Given the description of an element on the screen output the (x, y) to click on. 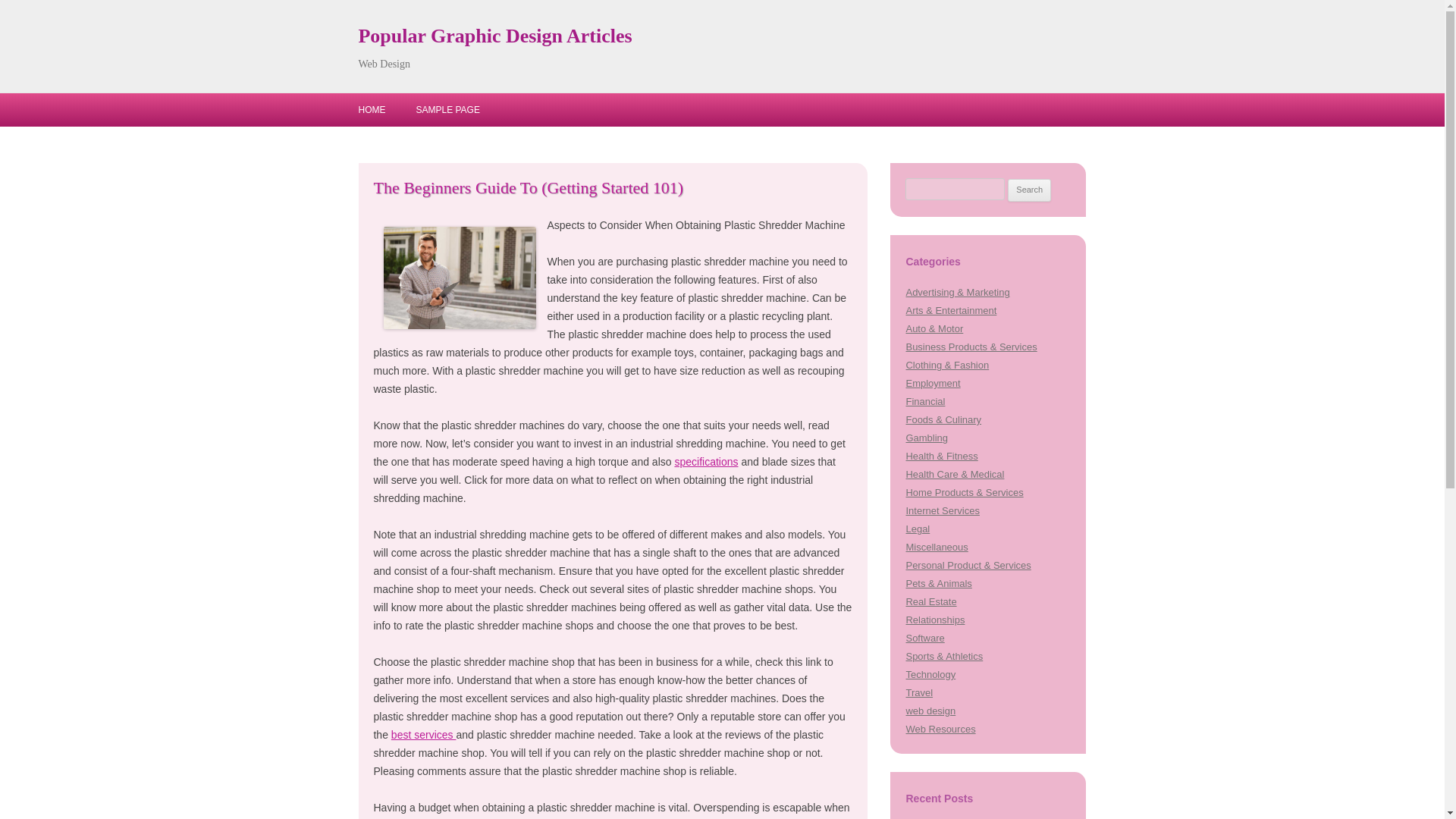
Internet Services (941, 510)
Travel (919, 692)
Gambling (926, 437)
Software (924, 637)
Search (1029, 190)
Technology (930, 674)
Relationships (934, 619)
web design (930, 710)
specifications (706, 461)
